Given the description of an element on the screen output the (x, y) to click on. 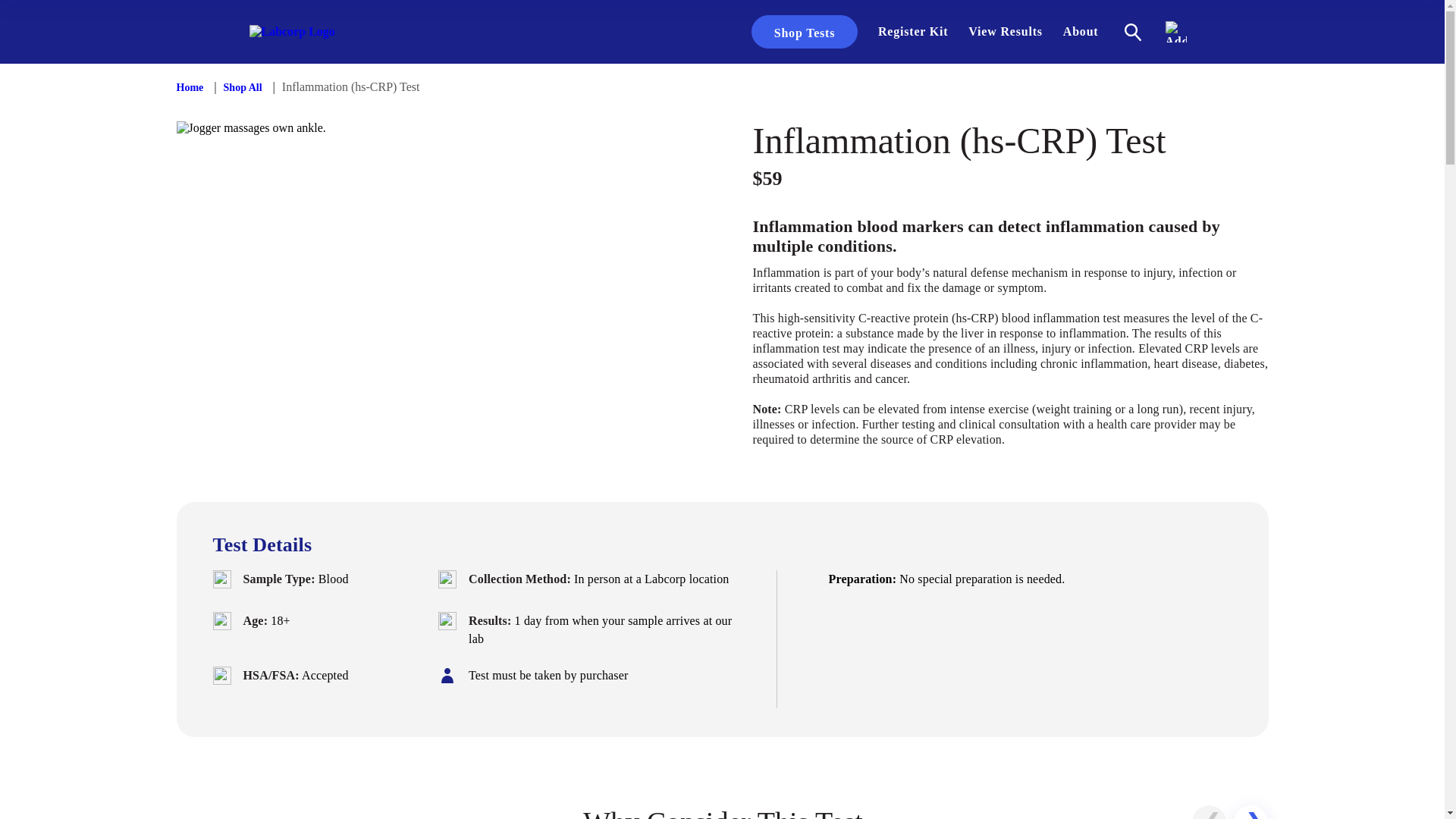
Search (1132, 31)
Shop Tests (804, 31)
Shop All (243, 87)
About (1081, 31)
Register Kit (912, 31)
View Results (1005, 31)
Home (189, 87)
